Given the description of an element on the screen output the (x, y) to click on. 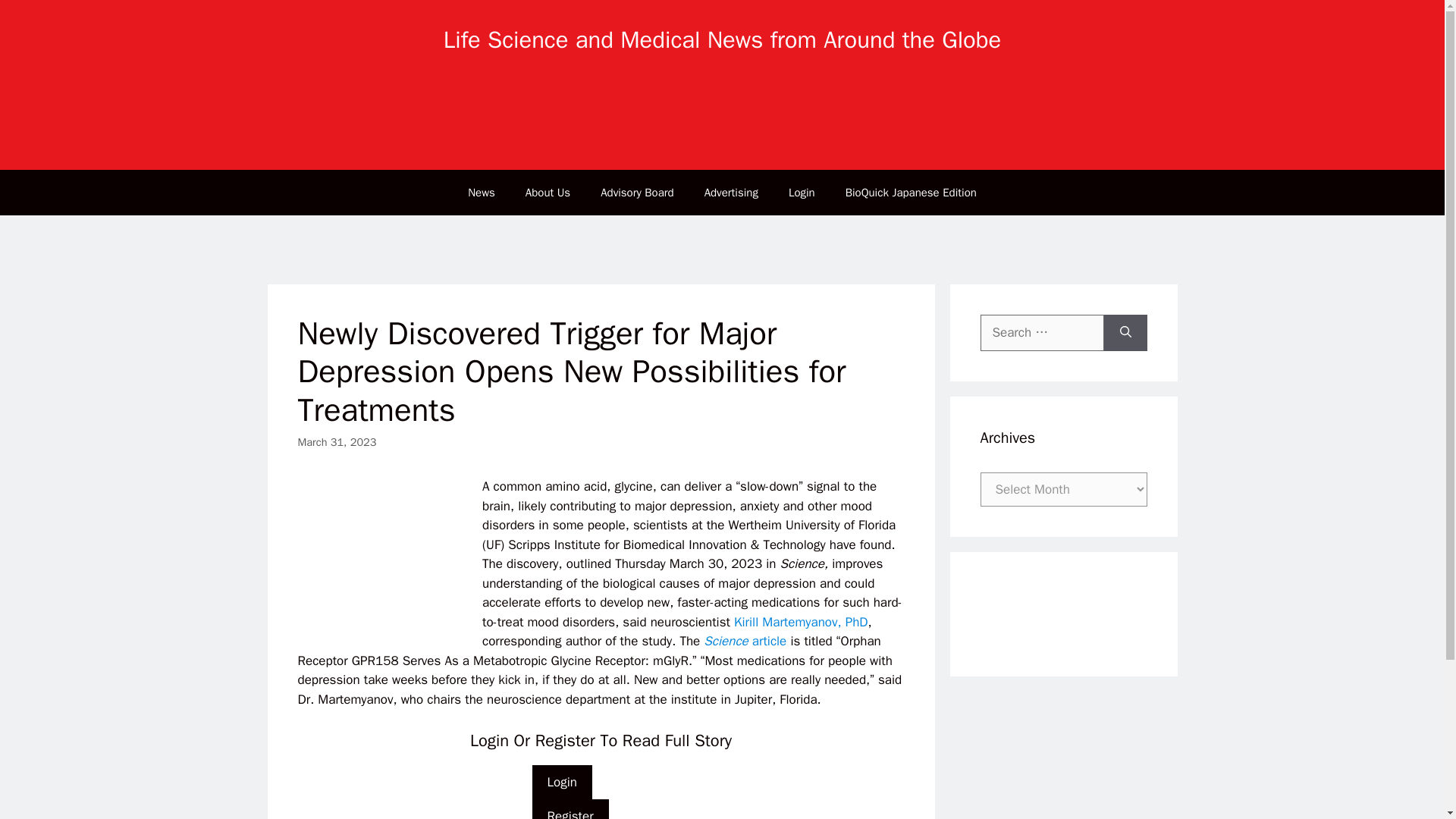
Kirill Martemyanov, PhD (800, 621)
About Us (548, 192)
Login (801, 192)
BioQuick Japanese Edition (910, 192)
Advisory Board (636, 192)
article (769, 641)
News (481, 192)
Science (727, 641)
Advertising (730, 192)
Login (562, 782)
